Given the description of an element on the screen output the (x, y) to click on. 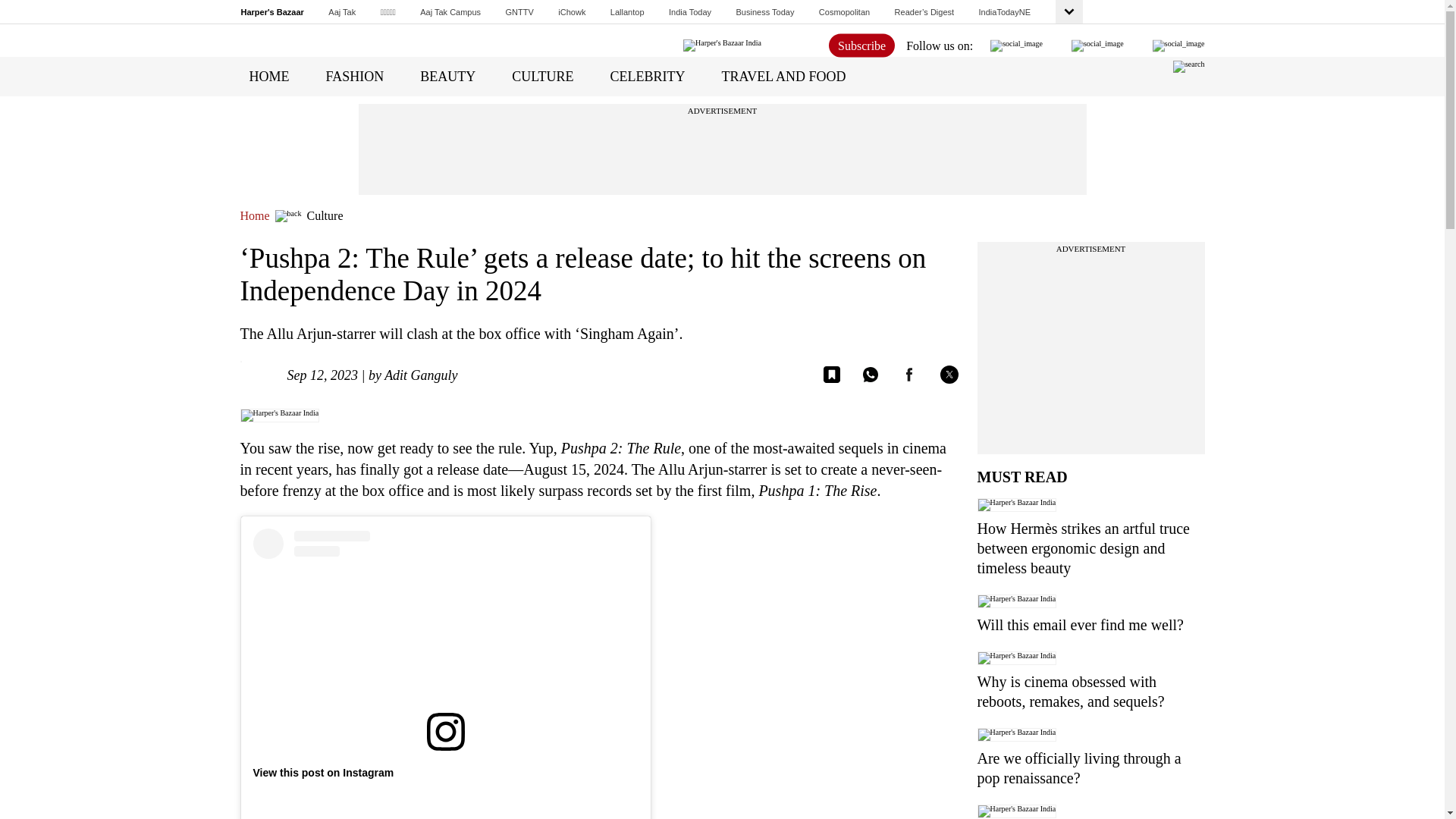
Business Today (765, 11)
Culture (323, 215)
iChowk (571, 11)
Harper's Bazaar (272, 11)
Cosmopolitan (843, 11)
FASHION (355, 76)
Aaj Tak (342, 11)
CELEBRITY (647, 76)
iChowk (571, 11)
HOME (269, 76)
TRAVEL AND FOOD (784, 76)
Harper Bazaar (272, 11)
Lallantop (627, 11)
Subscribe (861, 44)
Cosmopolitan (843, 11)
